Given the description of an element on the screen output the (x, y) to click on. 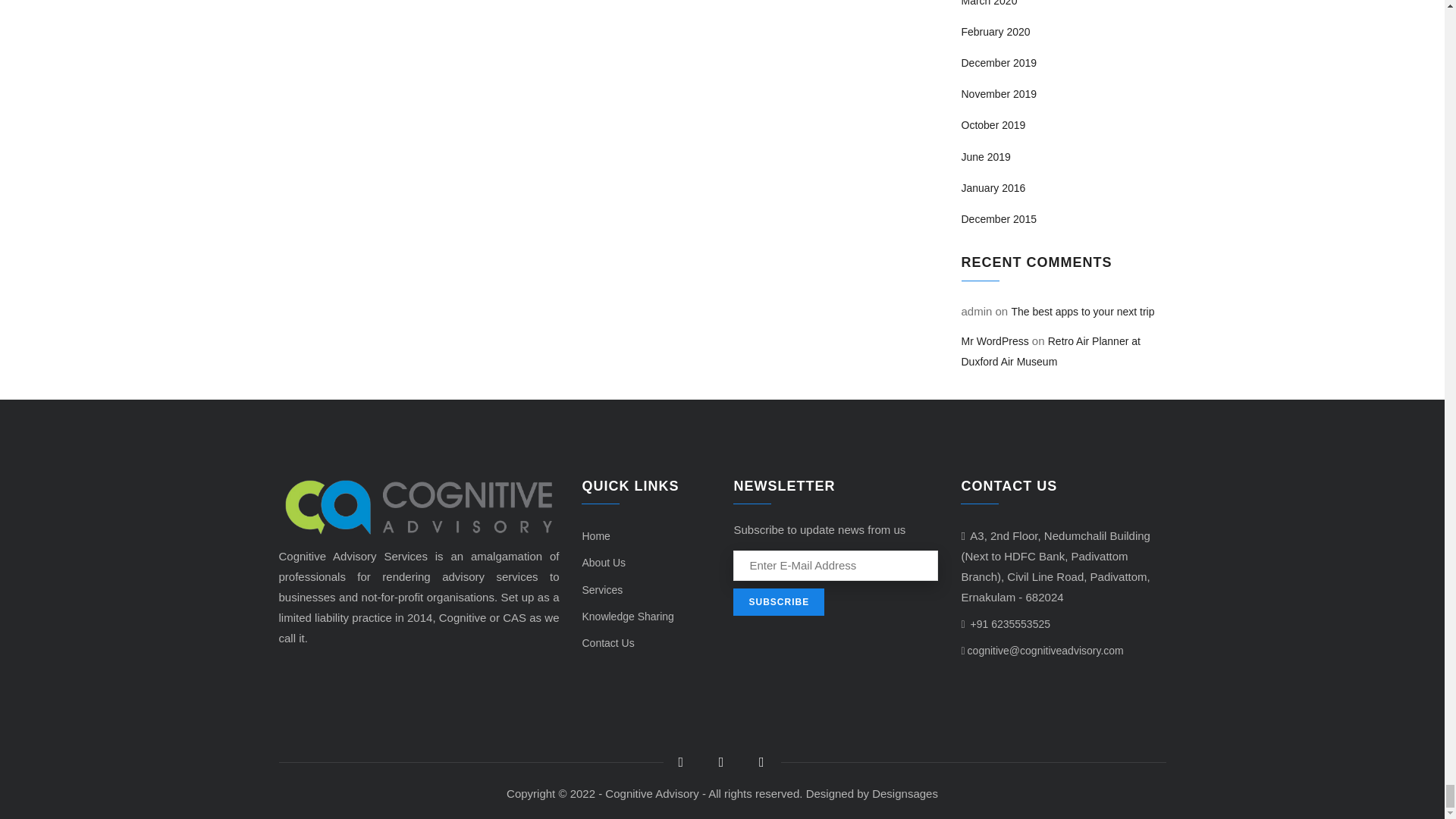
logo-nbg (419, 506)
Subscribe (778, 601)
